Given the description of an element on the screen output the (x, y) to click on. 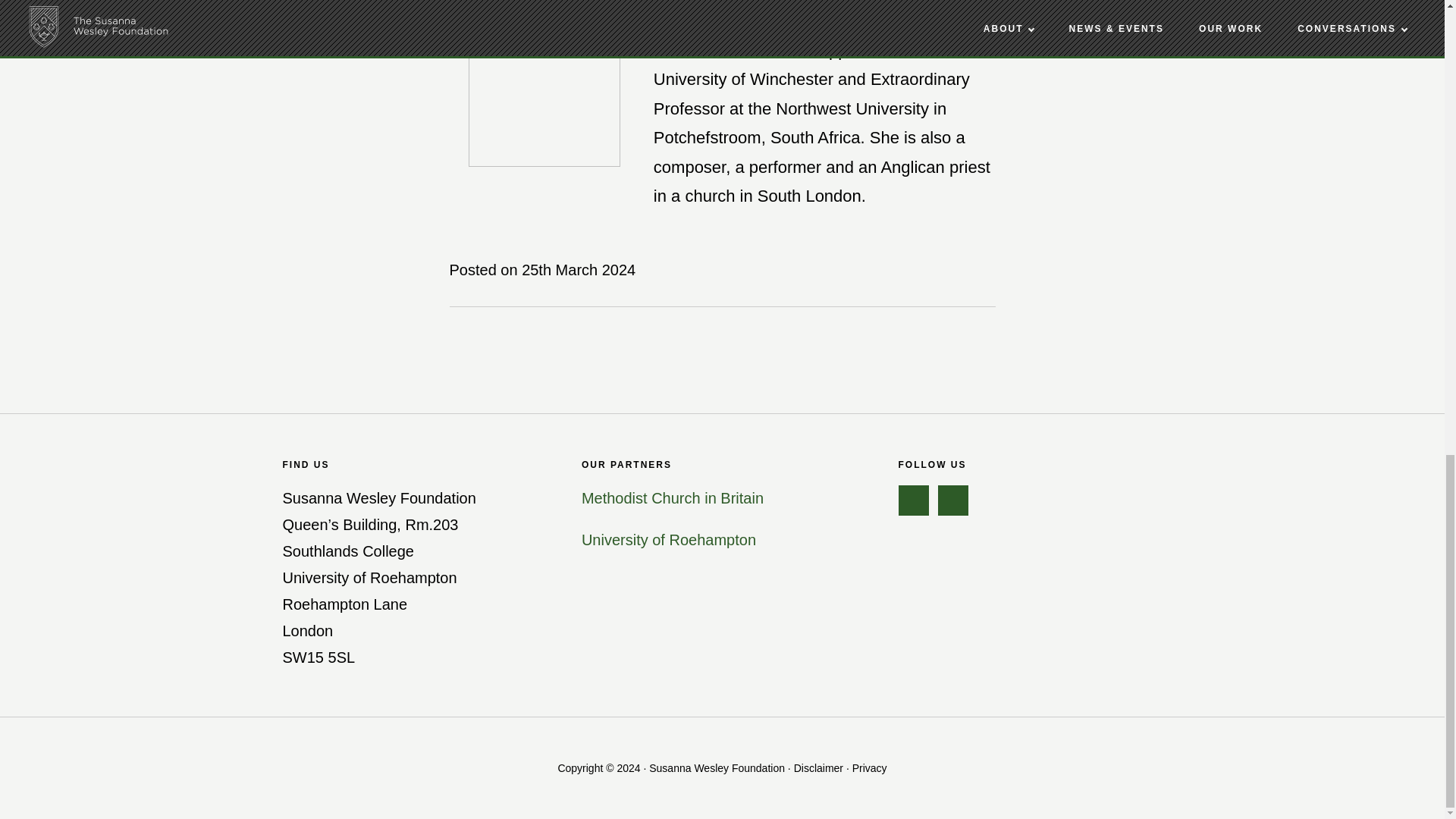
University of Roehampton (667, 539)
Privacy (868, 767)
Methodist Church in Britain (671, 497)
